Given the description of an element on the screen output the (x, y) to click on. 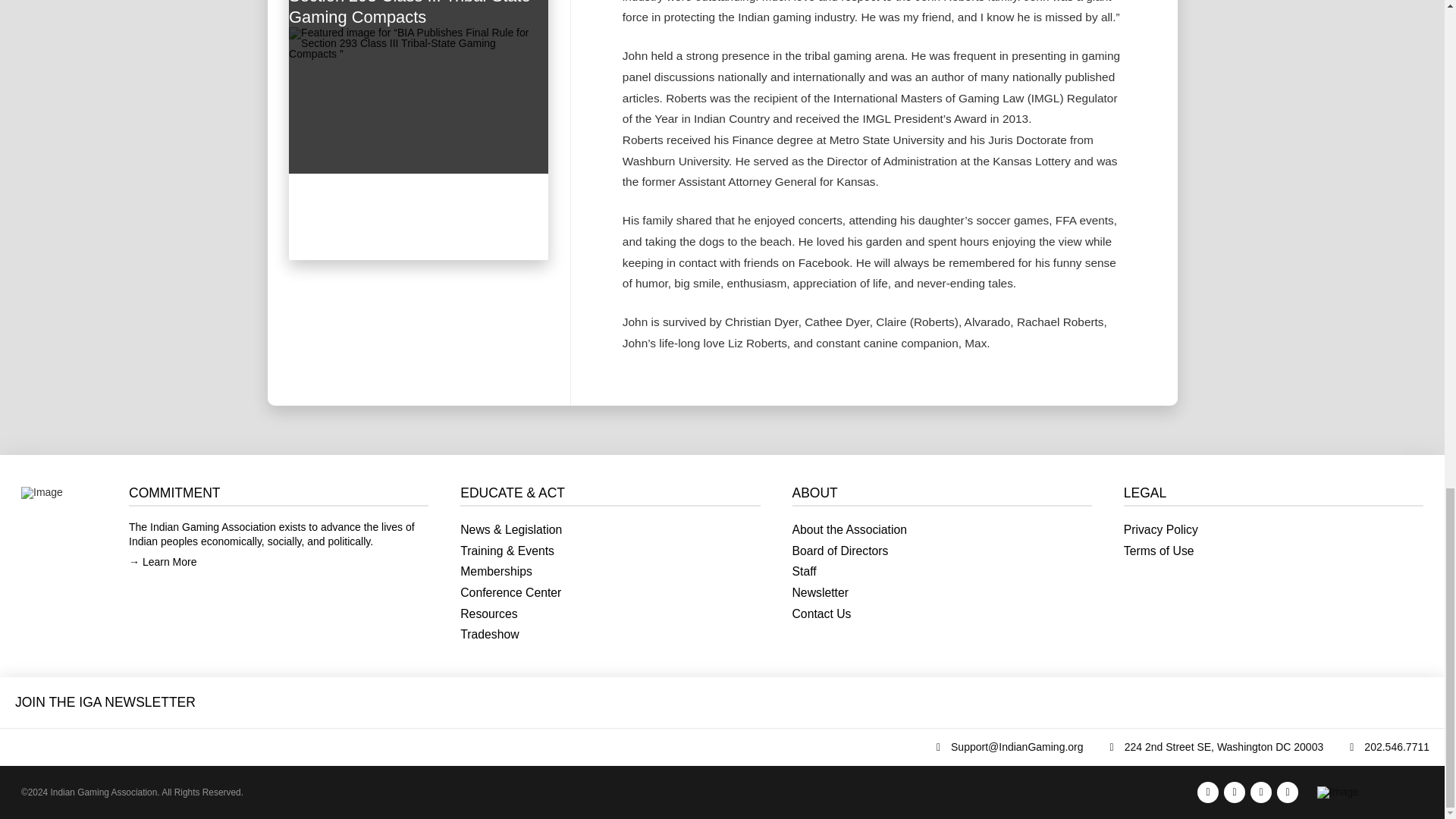
Conference Center (610, 593)
Memberships (610, 572)
Resources (610, 613)
